Given the description of an element on the screen output the (x, y) to click on. 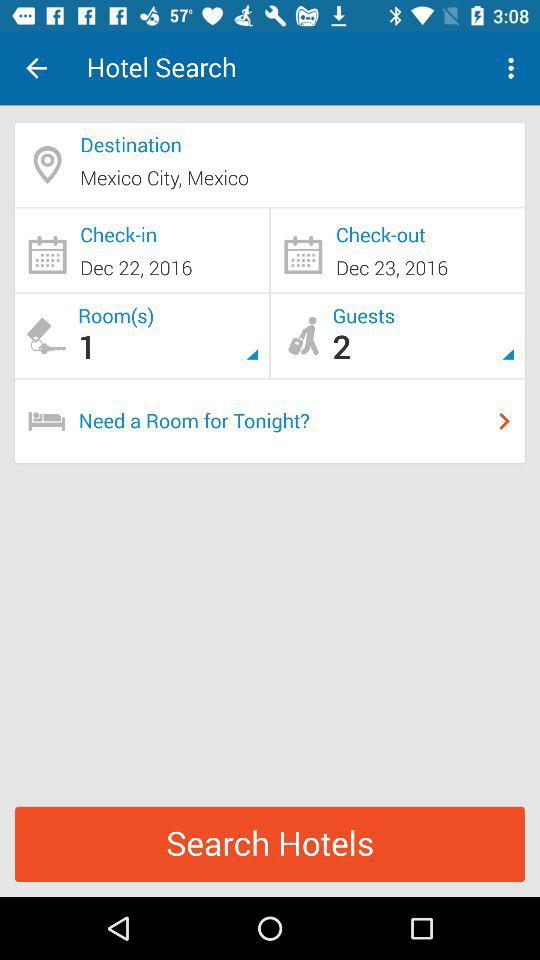
choose the item next to hotel search (36, 68)
